Given the description of an element on the screen output the (x, y) to click on. 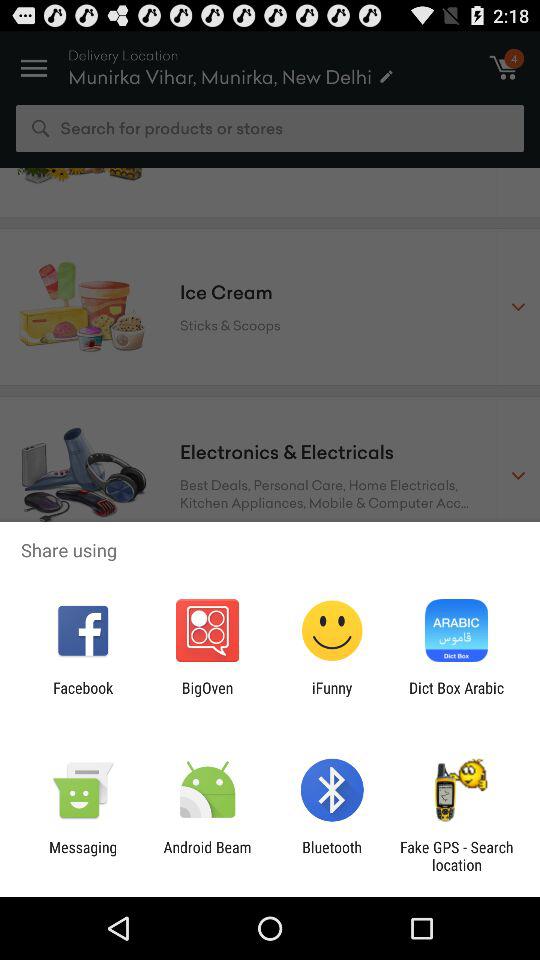
open app to the right of ifunny (456, 696)
